Given the description of an element on the screen output the (x, y) to click on. 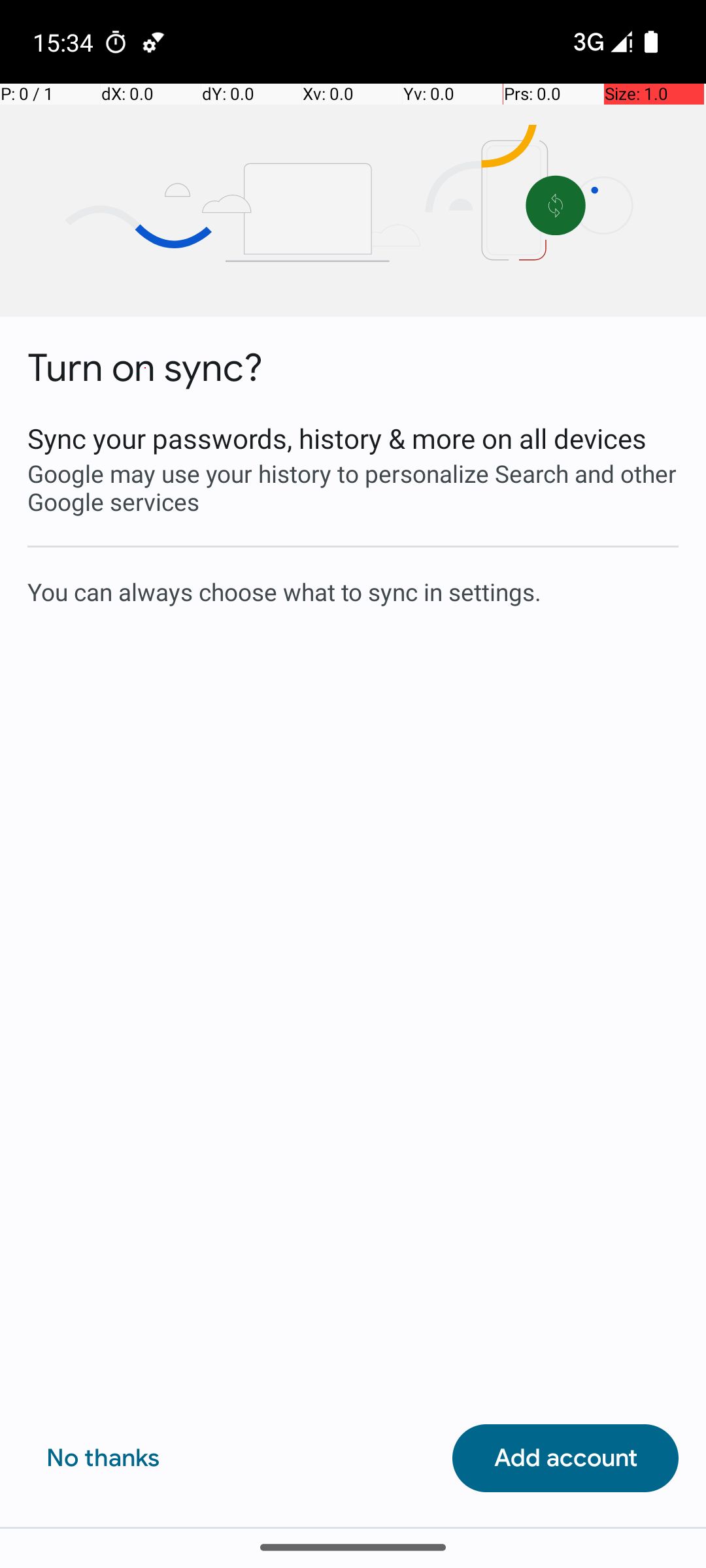
Android System notification: Wi‑Fi will turn on automatically Element type: android.widget.ImageView (153, 41)
